Given the description of an element on the screen output the (x, y) to click on. 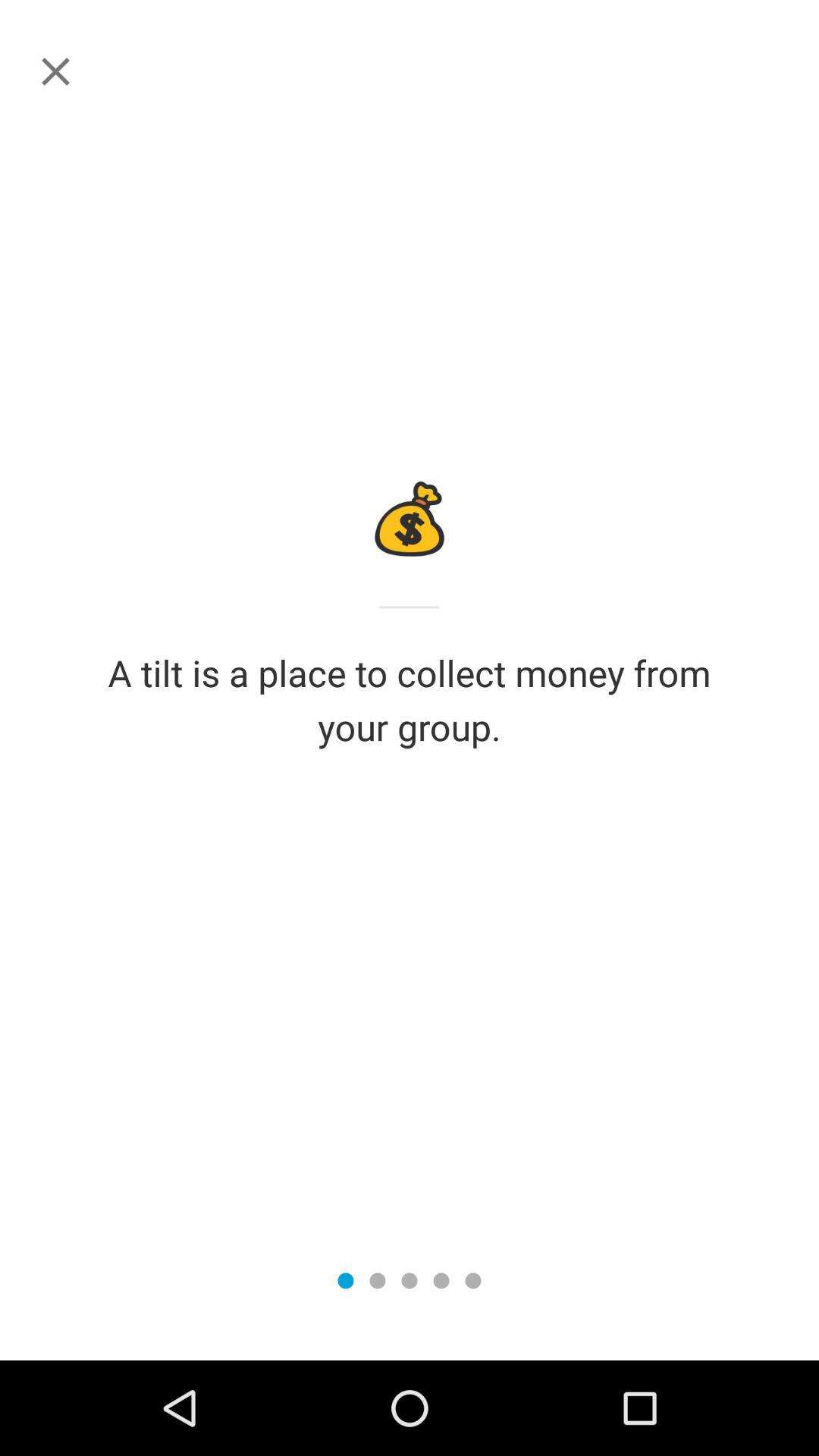
open icon at the top left corner (55, 71)
